Given the description of an element on the screen output the (x, y) to click on. 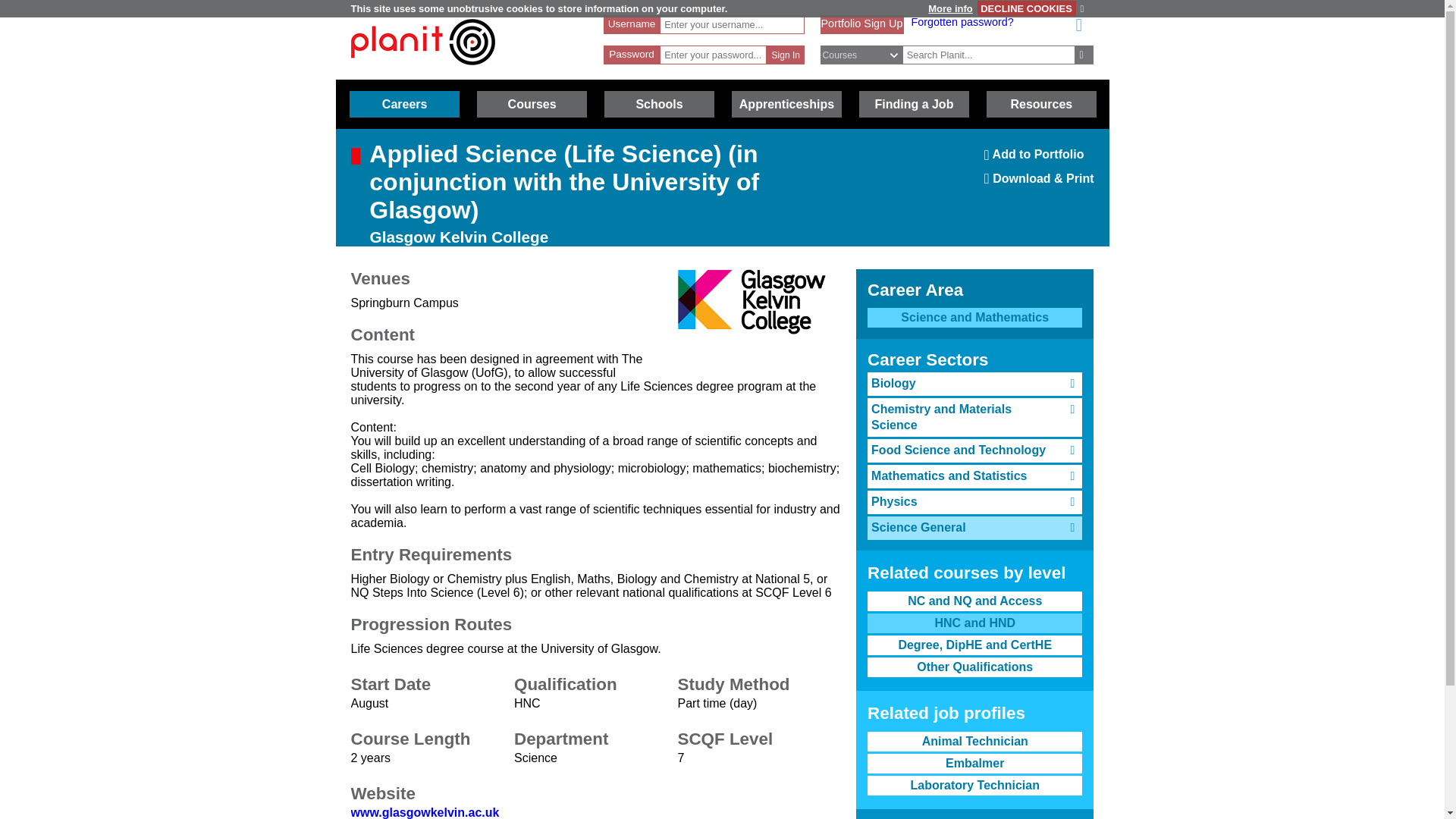
Search (1084, 54)
Sign In (786, 54)
Resources (1041, 103)
Portfolio Sign Up (1039, 159)
Courses (861, 23)
Science and Mathematics (531, 103)
Planit (974, 317)
Portfolio Sign Up (422, 41)
Planit Home (861, 23)
